Given the description of an element on the screen output the (x, y) to click on. 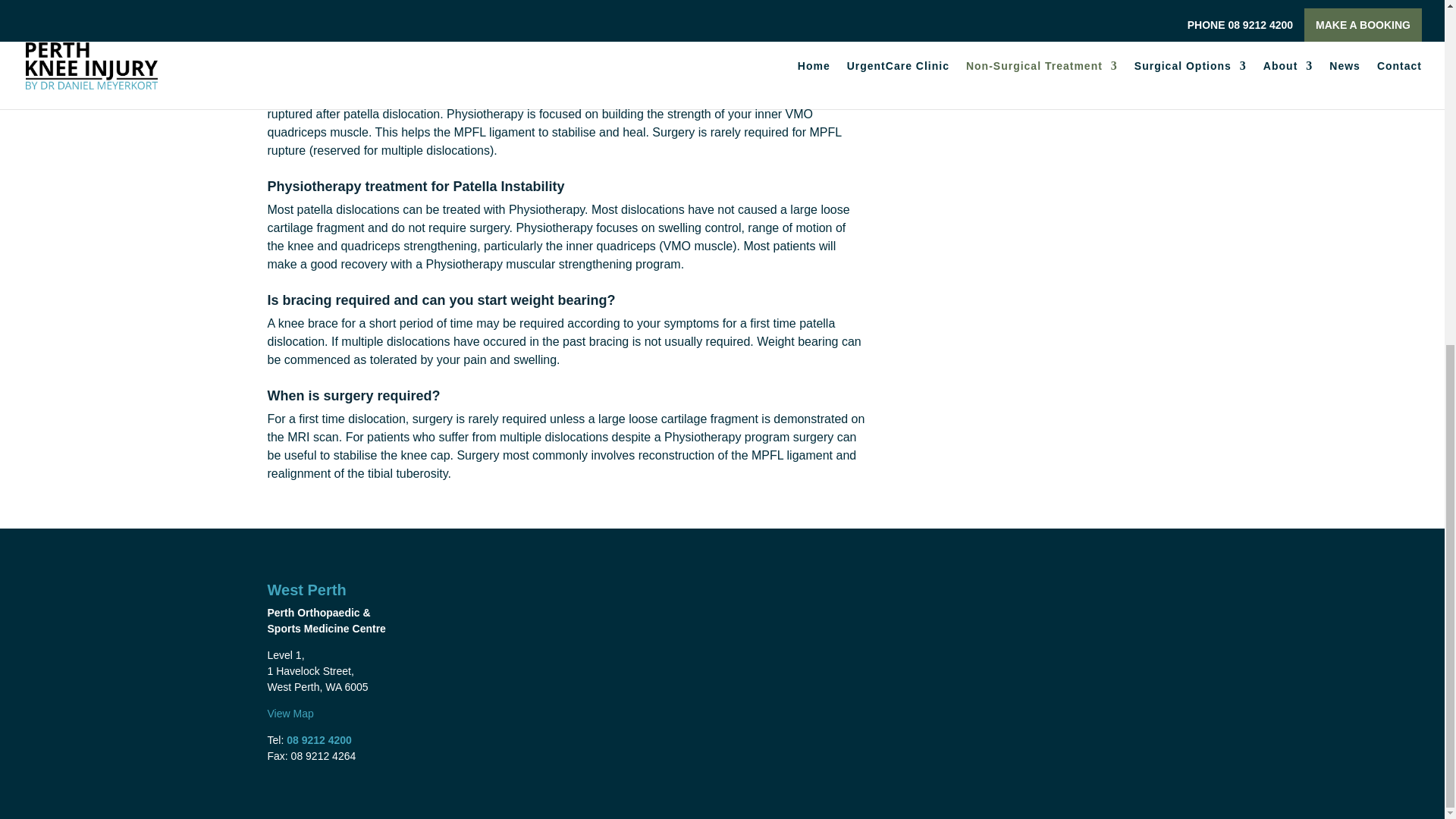
Quadriceps Tendinopathy (992, 35)
Patella Tendinopathy (979, 65)
Knee Arthritis (959, 6)
